Given the description of an element on the screen output the (x, y) to click on. 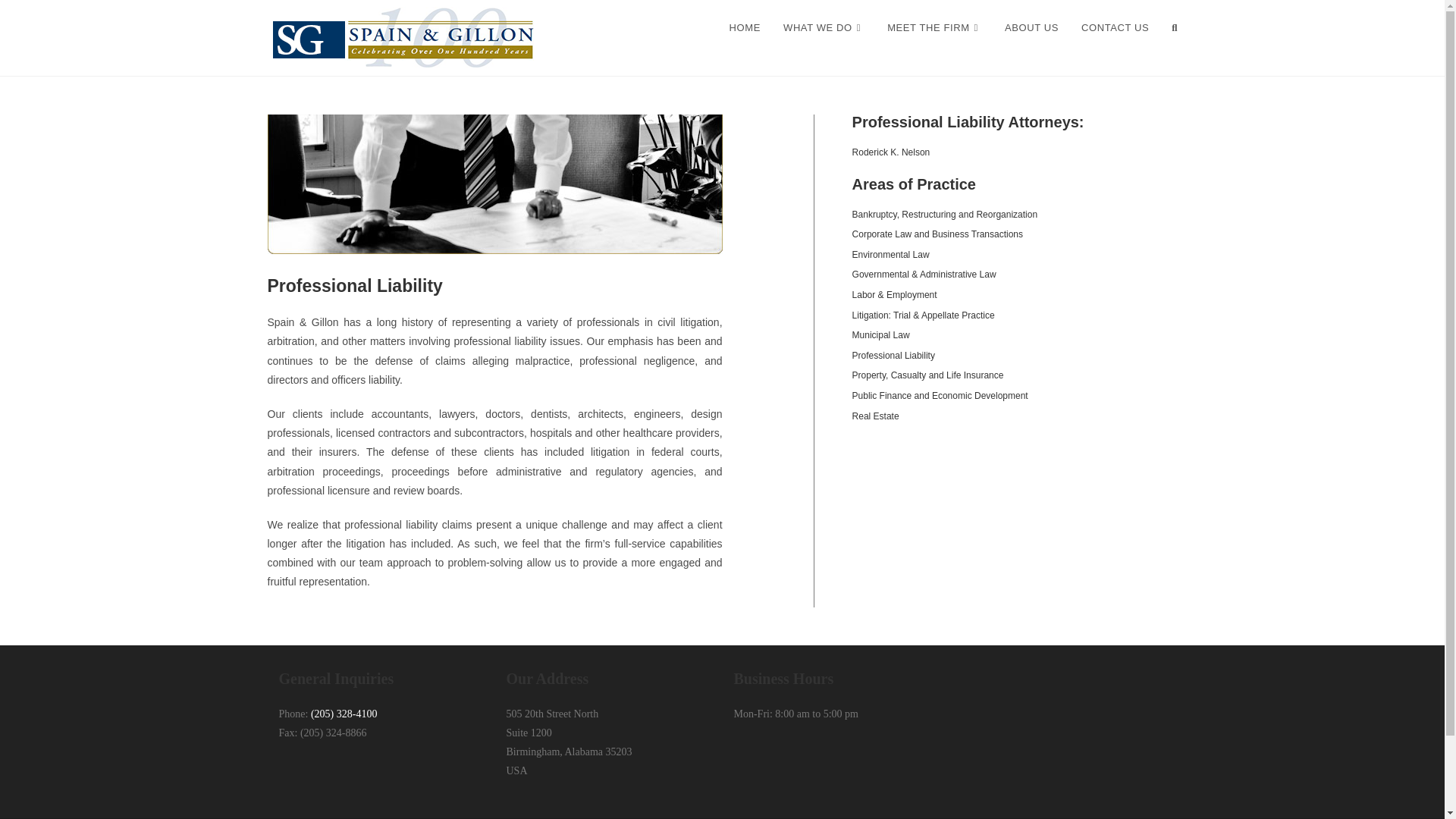
CONTACT US (1115, 28)
HOME (744, 28)
MEET THE FIRM (934, 28)
ABOUT US (1031, 28)
WHAT WE DO (823, 28)
